Given the description of an element on the screen output the (x, y) to click on. 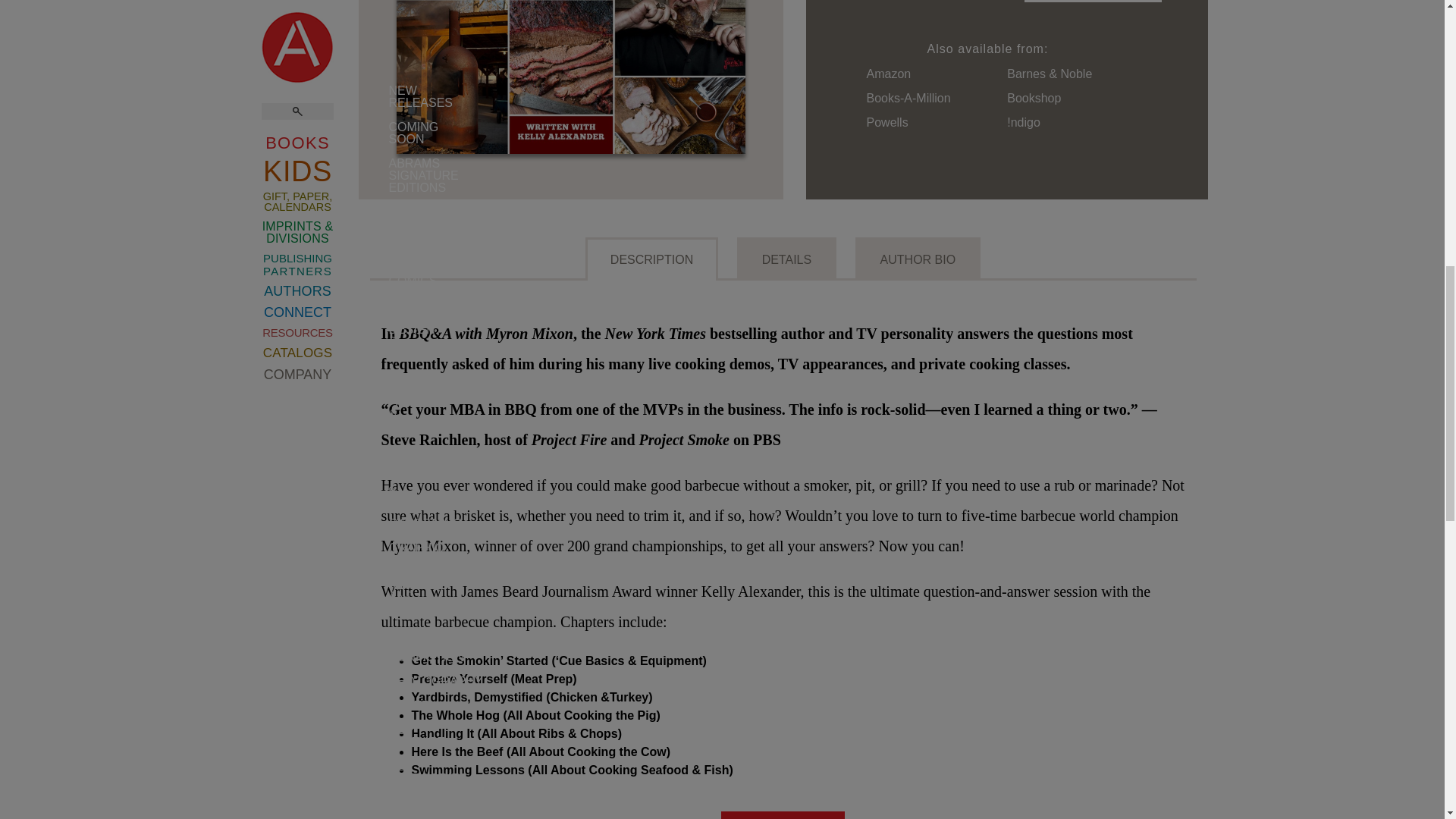
Kids Categories (373, 700)
BOARD BOOKS (373, 299)
Abrams Appleseed (373, 781)
Accept (1295, 94)
Abrams Kids (373, 176)
COMING SOON (373, 372)
NEW RELEASES (373, 263)
Abrams Books for Young Readers (373, 809)
KIDS GRAPHIC NOVELS (373, 415)
CHAPTER BOOKS (373, 336)
ABRAMS KIDS HOME (373, 176)
